Given the description of an element on the screen output the (x, y) to click on. 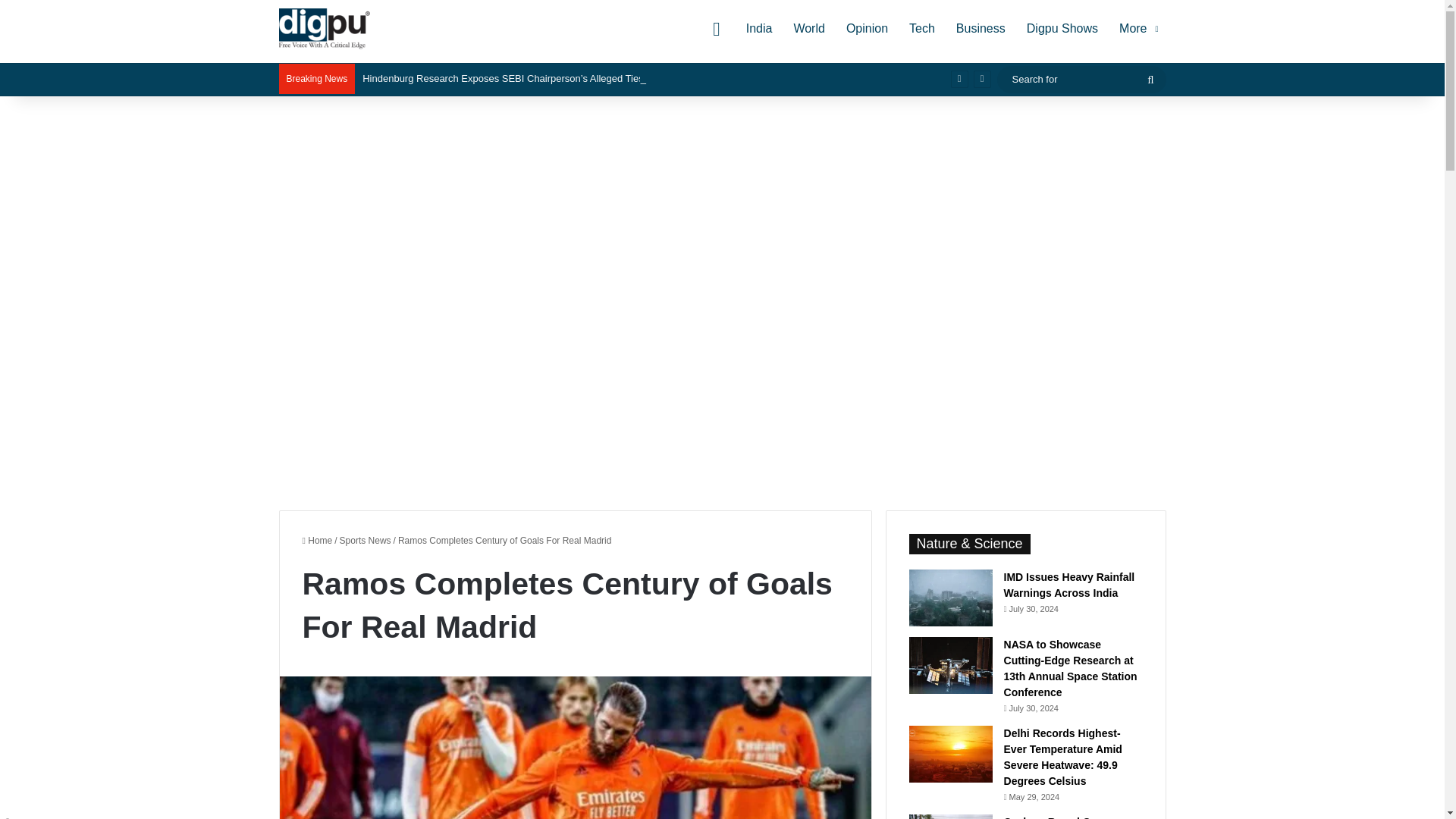
Sports News (365, 540)
Opinion (866, 28)
Digpu News Logo (324, 28)
Business (980, 28)
Digpu Shows (1062, 28)
Search for (1080, 78)
Home (316, 540)
World (809, 28)
Search for (1150, 79)
More (1137, 28)
